Given the description of an element on the screen output the (x, y) to click on. 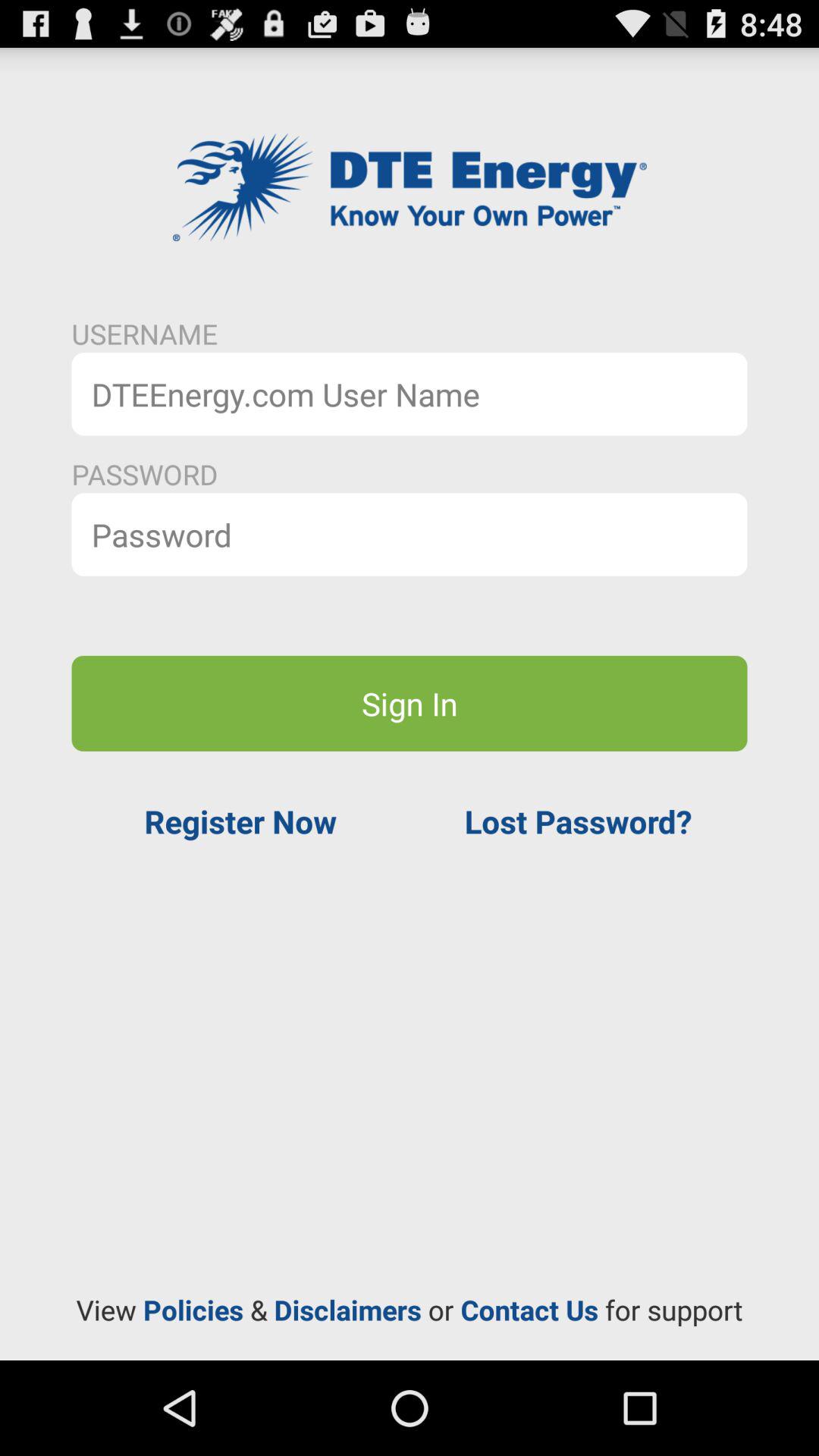
press the app on the right (578, 820)
